Given the description of an element on the screen output the (x, y) to click on. 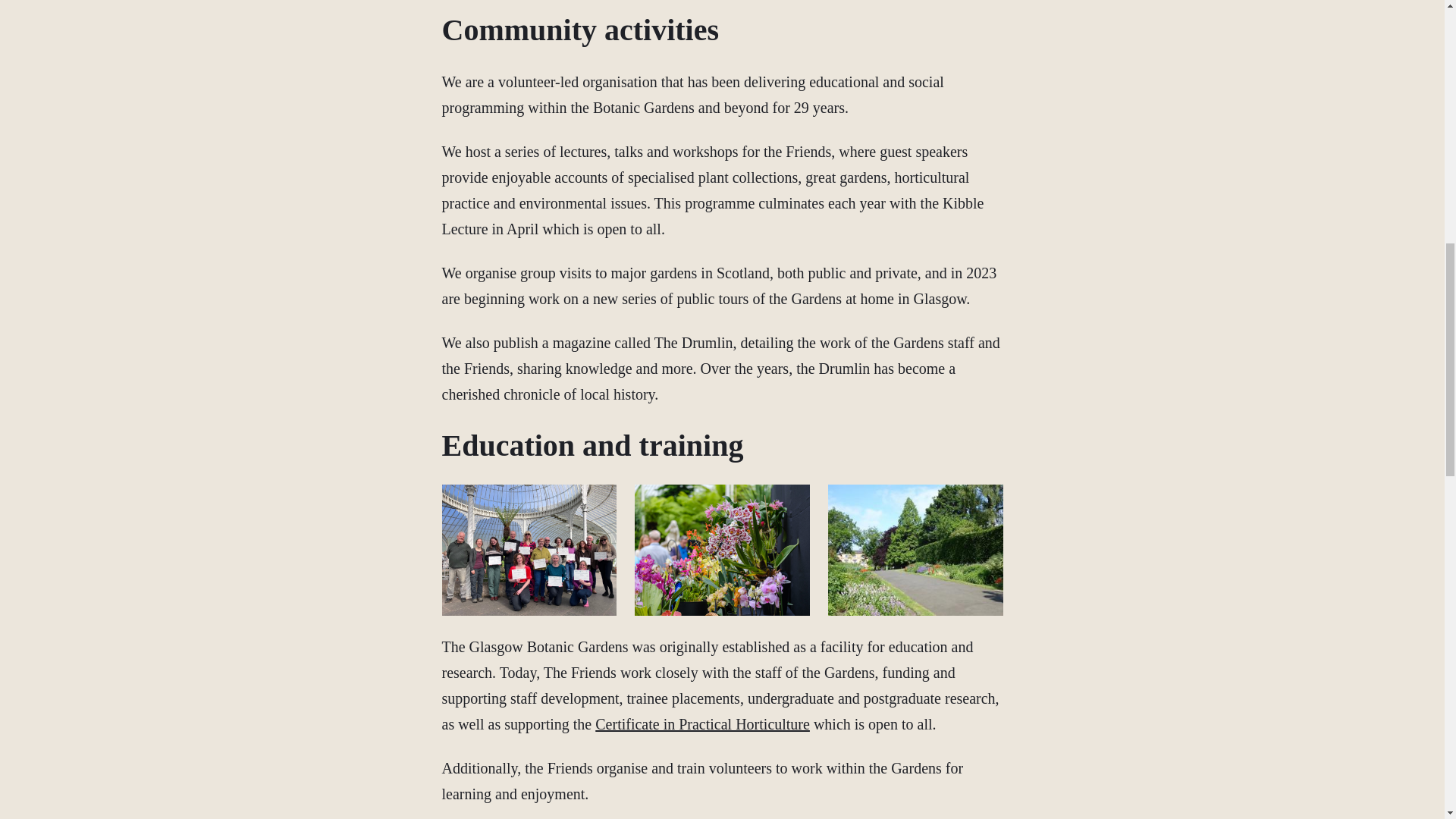
Certificate in Practical Horticulture (702, 723)
